Given the description of an element on the screen output the (x, y) to click on. 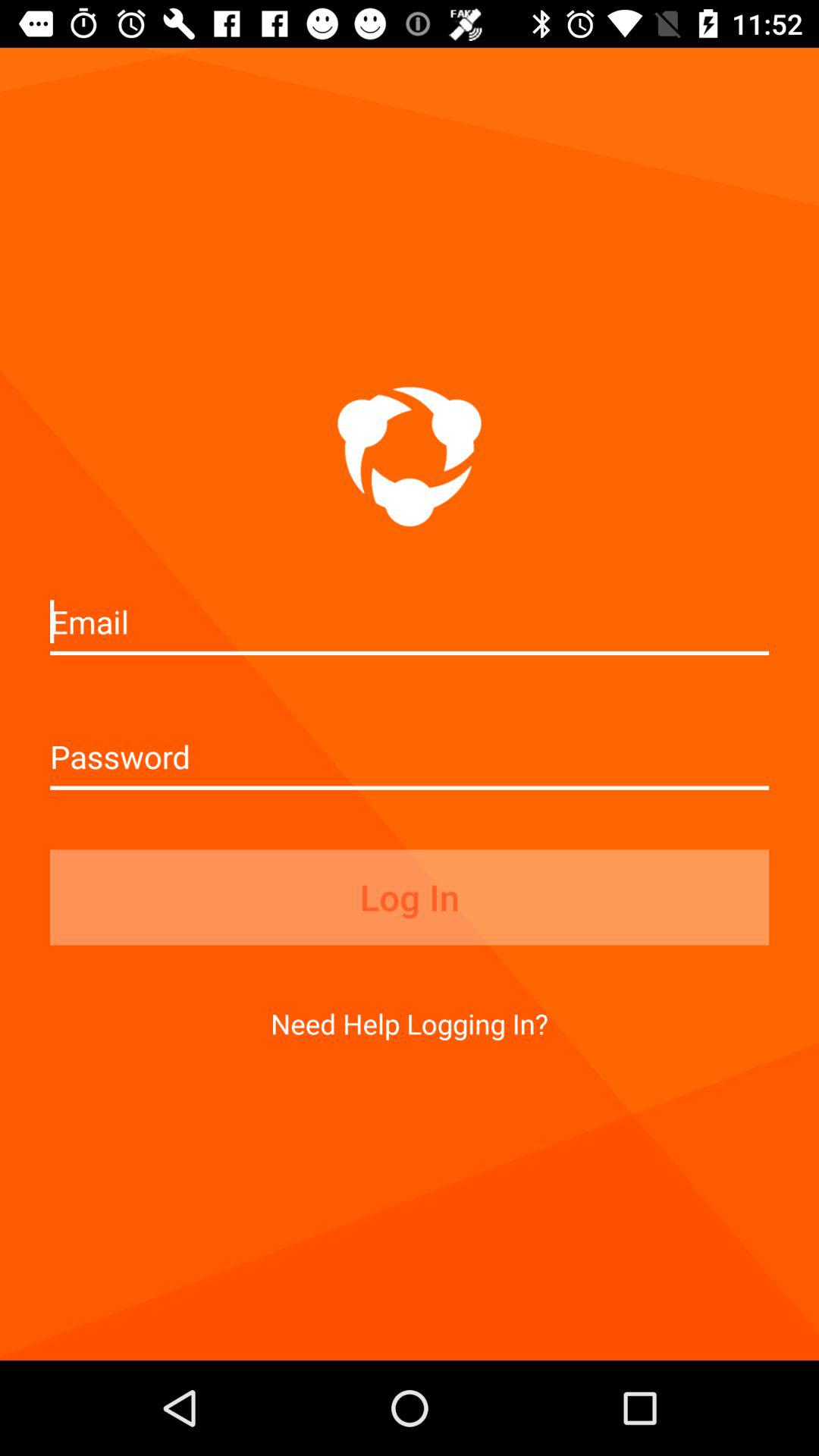
open log in icon (409, 897)
